Given the description of an element on the screen output the (x, y) to click on. 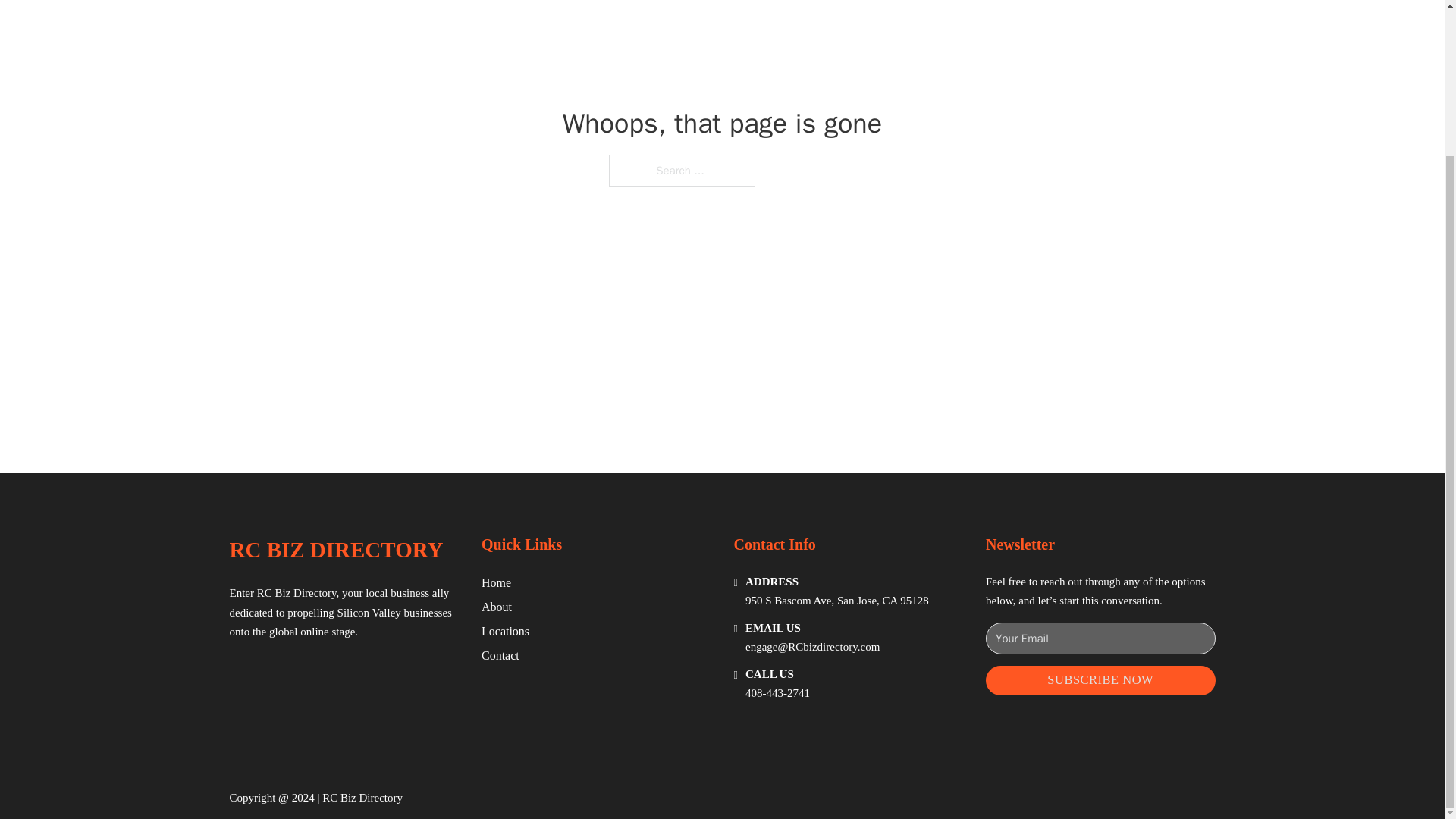
RC BIZ DIRECTORY (335, 549)
Contact (500, 655)
Home (496, 582)
Locations (505, 630)
408-443-2741 (777, 693)
SUBSCRIBE NOW (1100, 680)
About (496, 607)
